Given the description of an element on the screen output the (x, y) to click on. 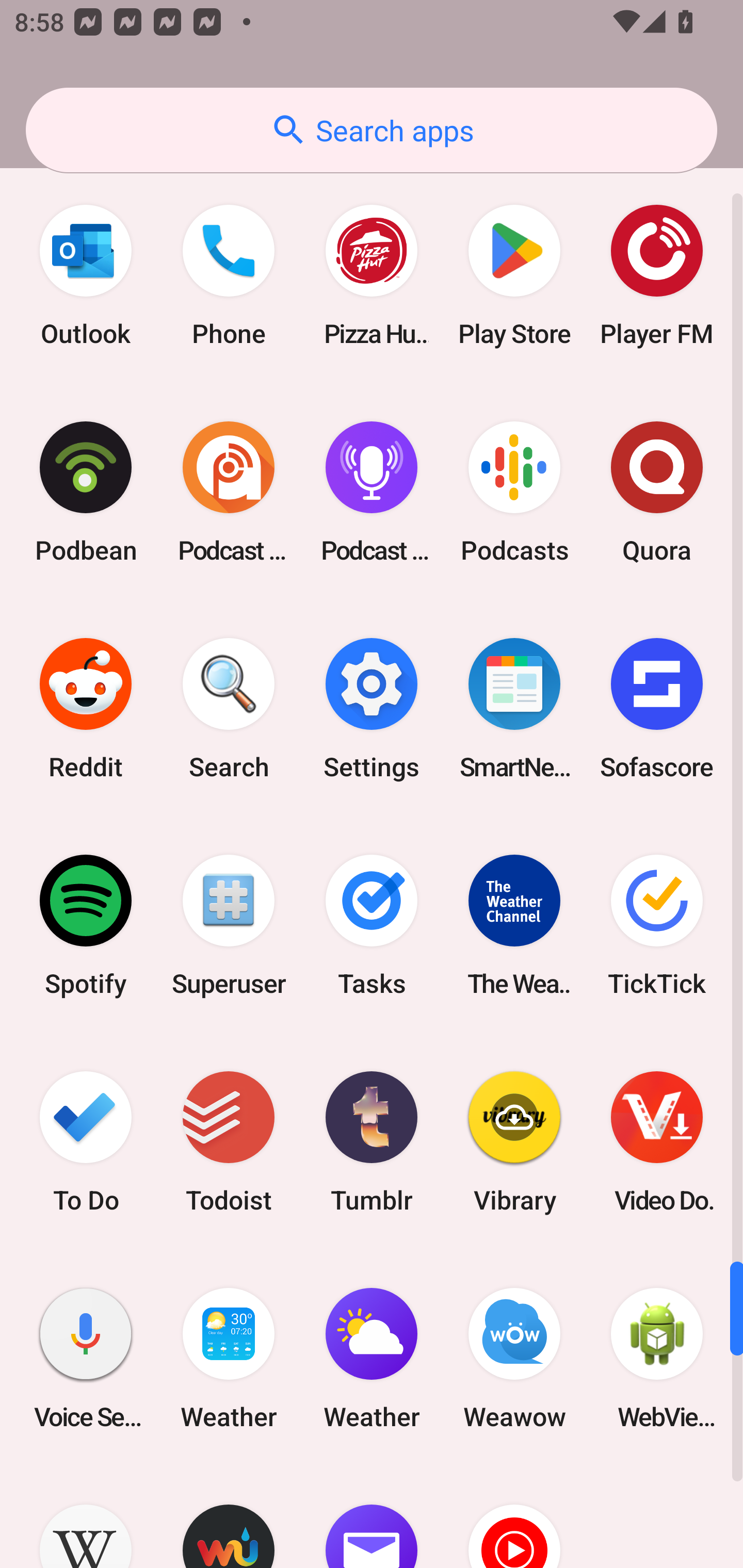
  Search apps (371, 130)
Outlook (85, 275)
Phone (228, 275)
Pizza Hut HK & Macau (371, 275)
Play Store (514, 275)
Player FM (656, 275)
Podbean (85, 492)
Podcast Addict (228, 492)
Podcast Player (371, 492)
Podcasts (514, 492)
Quora (656, 492)
Reddit (85, 708)
Search (228, 708)
Settings (371, 708)
SmartNews (514, 708)
Sofascore (656, 708)
Spotify (85, 924)
Superuser (228, 924)
Tasks (371, 924)
The Weather Channel (514, 924)
TickTick (656, 924)
To Do (85, 1141)
Todoist (228, 1141)
Tumblr (371, 1141)
Vibrary (514, 1141)
Video Downloader & Ace Player (656, 1141)
Voice Search (85, 1358)
Weather (228, 1358)
Weather (371, 1358)
Weawow (514, 1358)
WebView Browser Tester (656, 1358)
Wikipedia (85, 1517)
Wunderground (228, 1517)
Yahoo Mail (371, 1517)
YT Music (514, 1517)
